Given the description of an element on the screen output the (x, y) to click on. 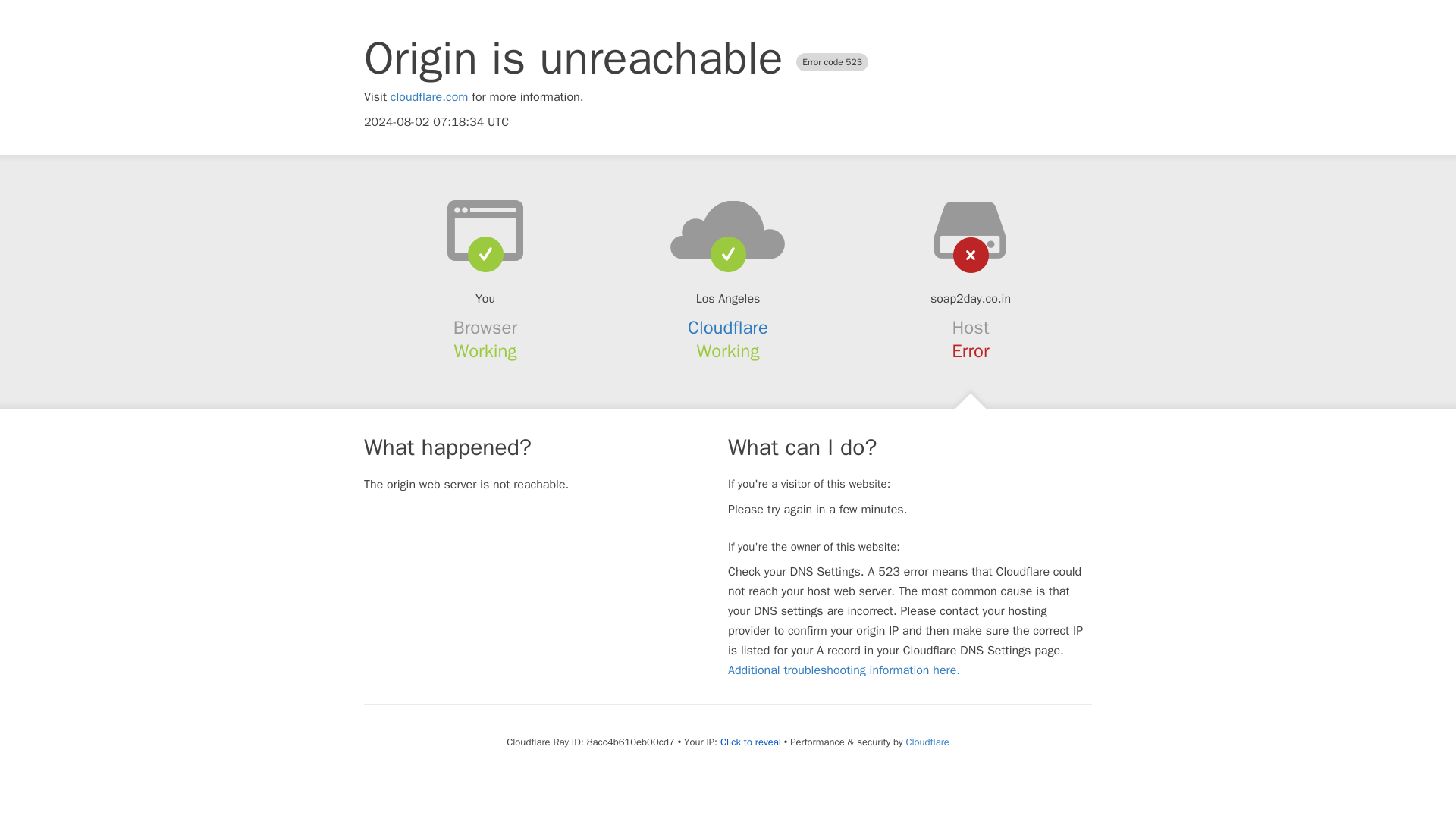
Cloudflare (927, 741)
Additional troubleshooting information here. (843, 670)
Click to reveal (750, 742)
cloudflare.com (429, 96)
Cloudflare (727, 327)
